Given the description of an element on the screen output the (x, y) to click on. 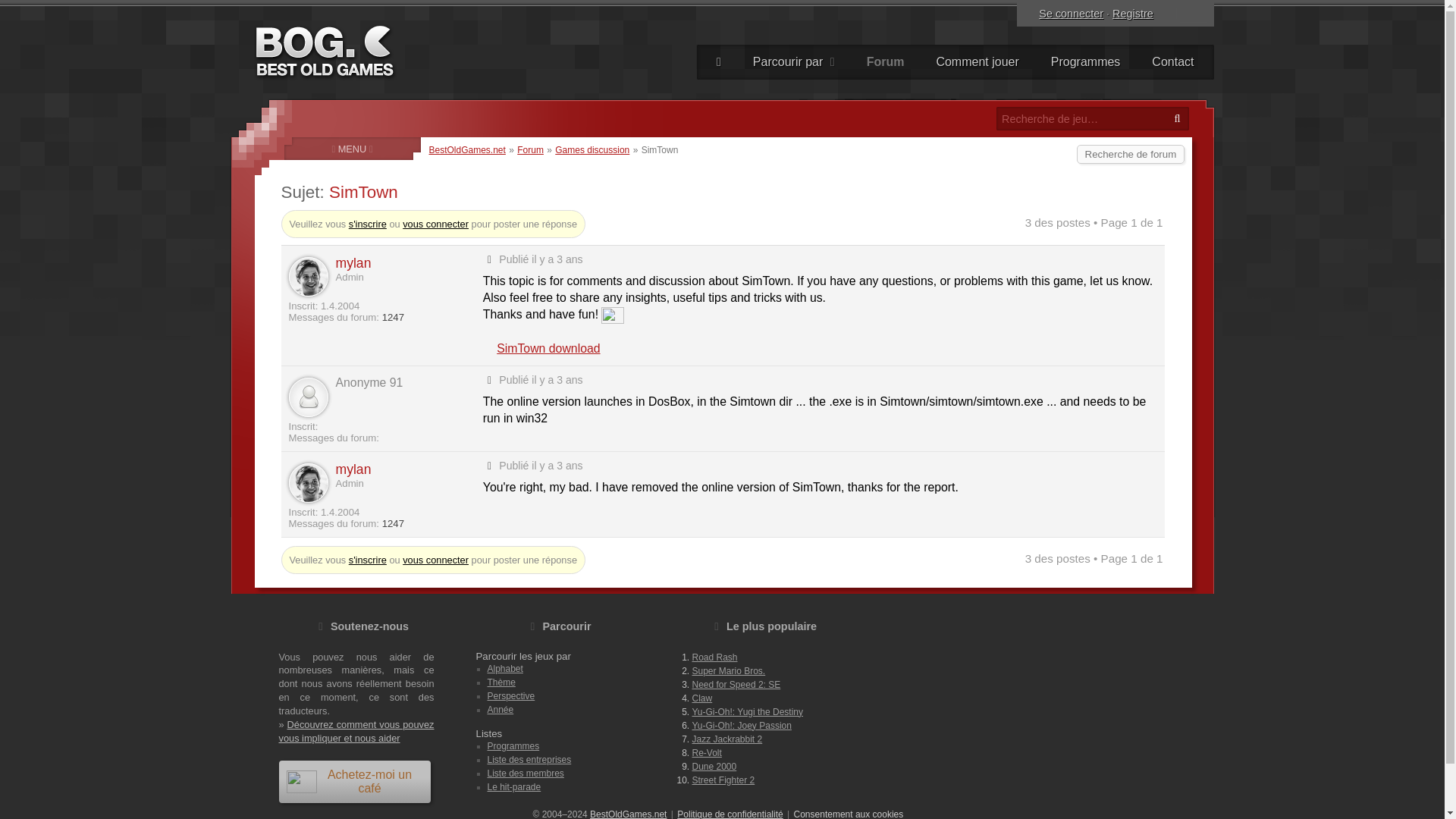
Forum (885, 62)
Contact (1172, 62)
Registre (1132, 13)
Vieux (489, 258)
vous connecter (435, 224)
s'inscrire (368, 559)
Comment jouer (976, 62)
Vieux (489, 464)
Maison (718, 62)
14. Mars 2021 22:04:43 (556, 465)
Cela prend moins de 30 secondes (1132, 13)
Forum (530, 149)
22. Janvier 2021 23:22:22 (556, 259)
Parcourir par (794, 62)
Games discussion (592, 149)
